Given the description of an element on the screen output the (x, y) to click on. 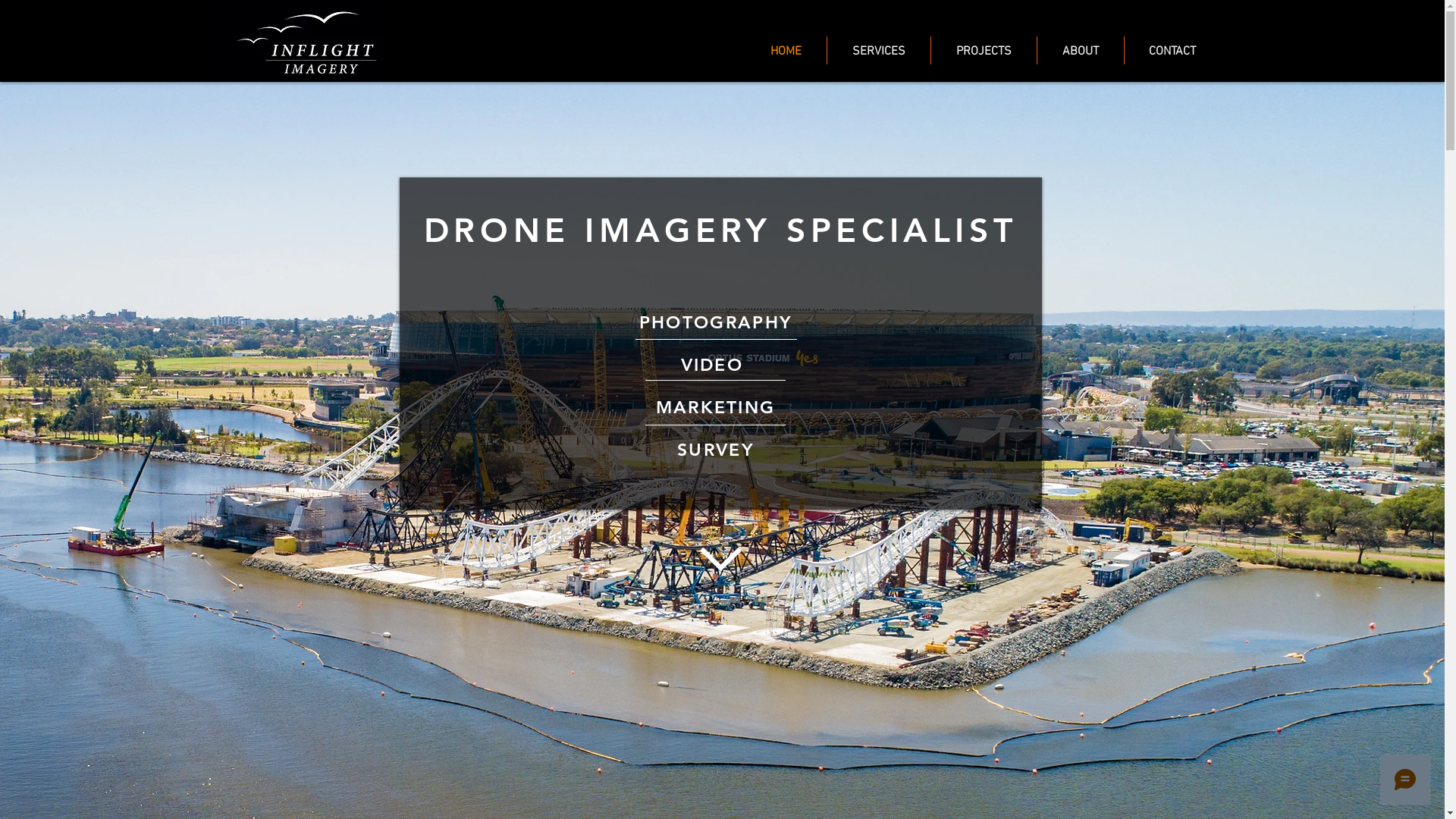
SERVICES Element type: text (877, 50)
HOME Element type: text (784, 50)
PROJECTS Element type: text (983, 50)
ABOUT Element type: text (1080, 50)
CONTACT Element type: text (1171, 50)
